Given the description of an element on the screen output the (x, y) to click on. 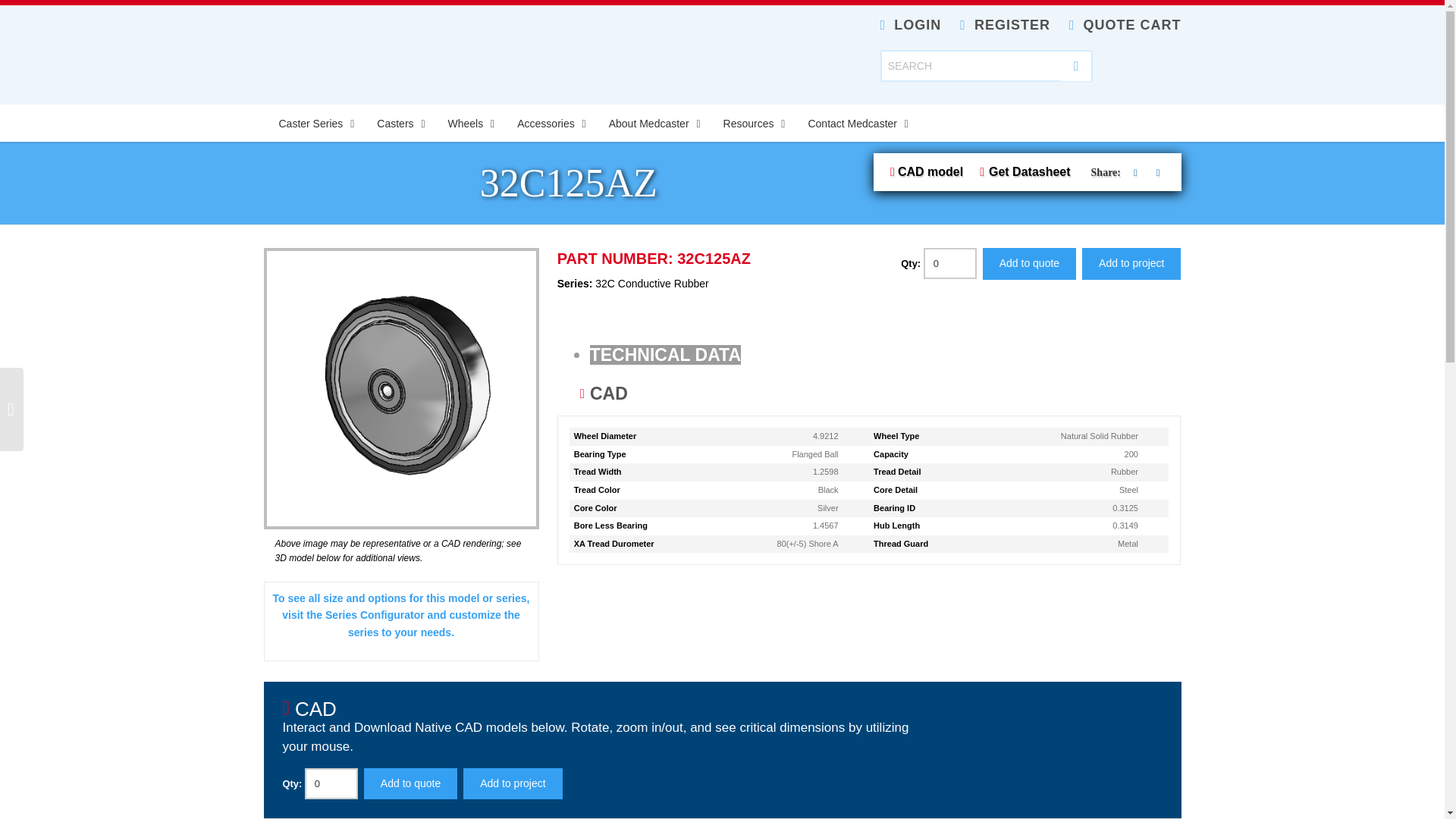
Get PDF Datasheet (1029, 171)
LOGIN (911, 24)
REGISTER (1004, 24)
Caster Series (312, 122)
0 (949, 263)
Permanent Link: 32C125AZ (569, 182)
QUOTE CART (1124, 24)
0 (331, 783)
